Given the description of an element on the screen output the (x, y) to click on. 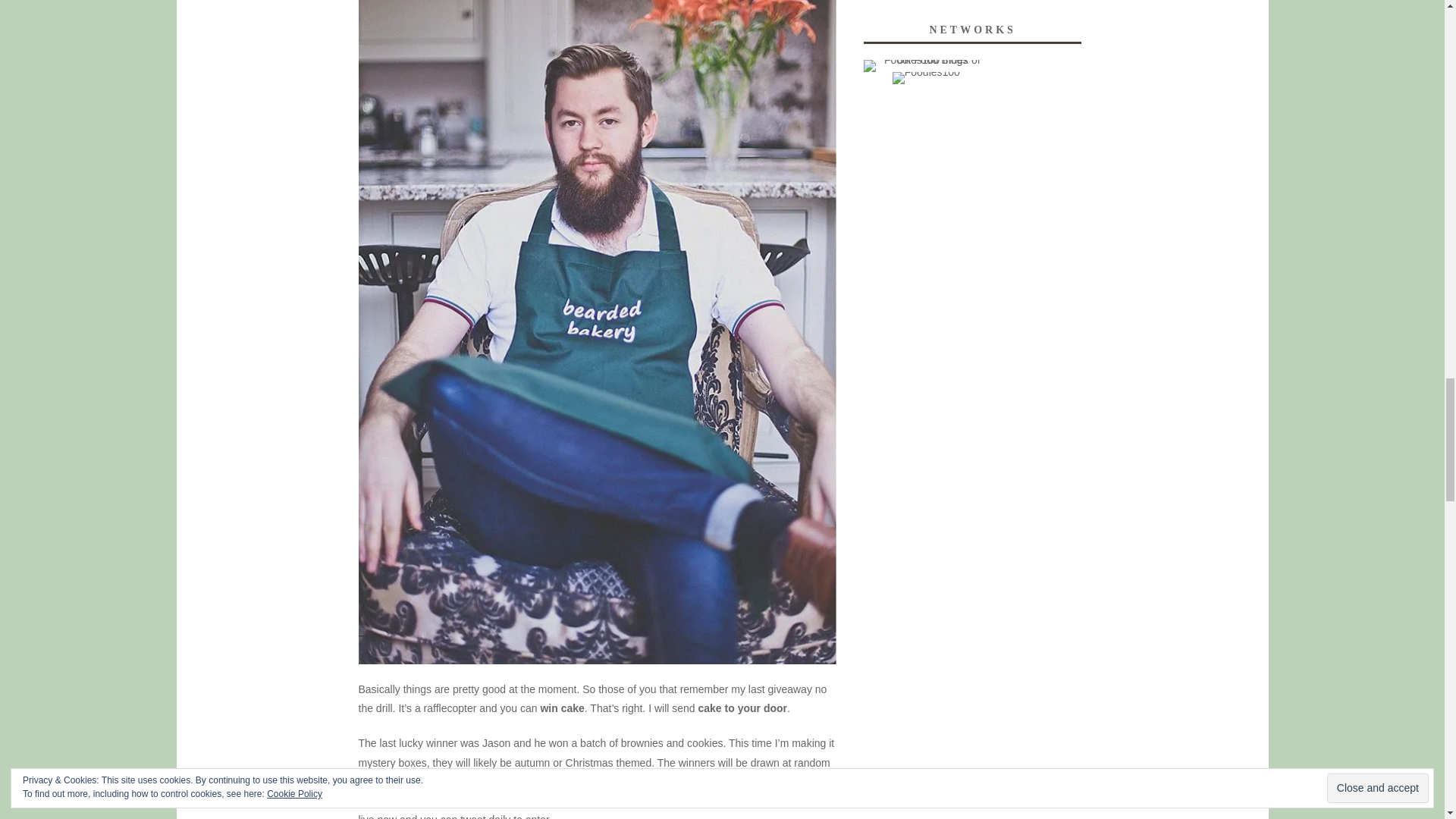
Foodies100 Index of UK Food Blogs (925, 60)
Foodies100 (925, 71)
Foodies100 (925, 78)
Foodies100 Index of UK Food Blogs (925, 65)
